Given the description of an element on the screen output the (x, y) to click on. 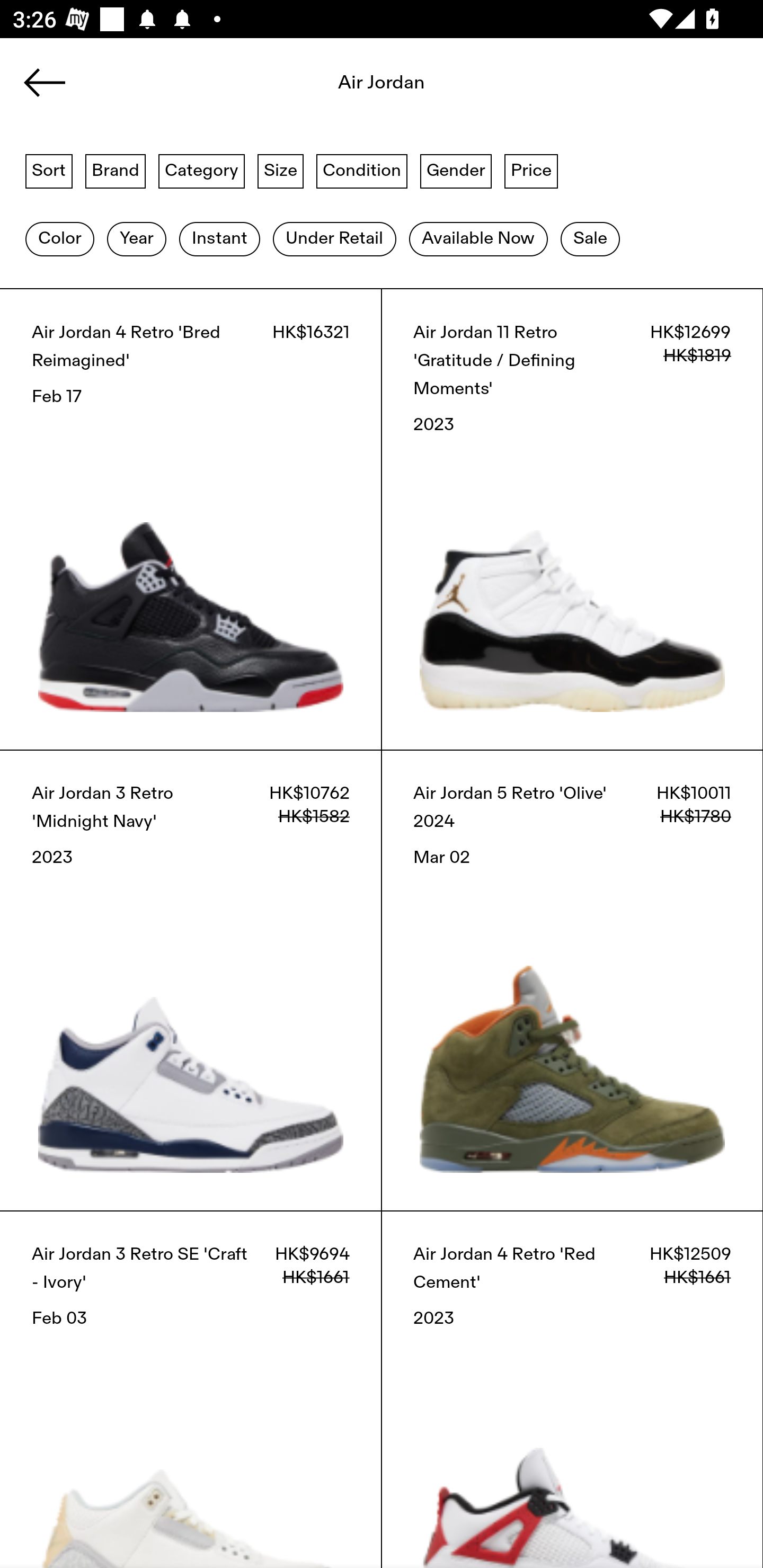
sneakers (381, 88)
Clear text (711, 87)
Sort (48, 170)
Brand (115, 170)
Category (201, 170)
Size (280, 170)
Condition (361, 170)
Gender (455, 170)
Price (530, 170)
Color (59, 239)
Year (136, 239)
Instant (219, 239)
Under Retail (334, 239)
Available Now (477, 239)
Sale (589, 239)
